Given the description of an element on the screen output the (x, y) to click on. 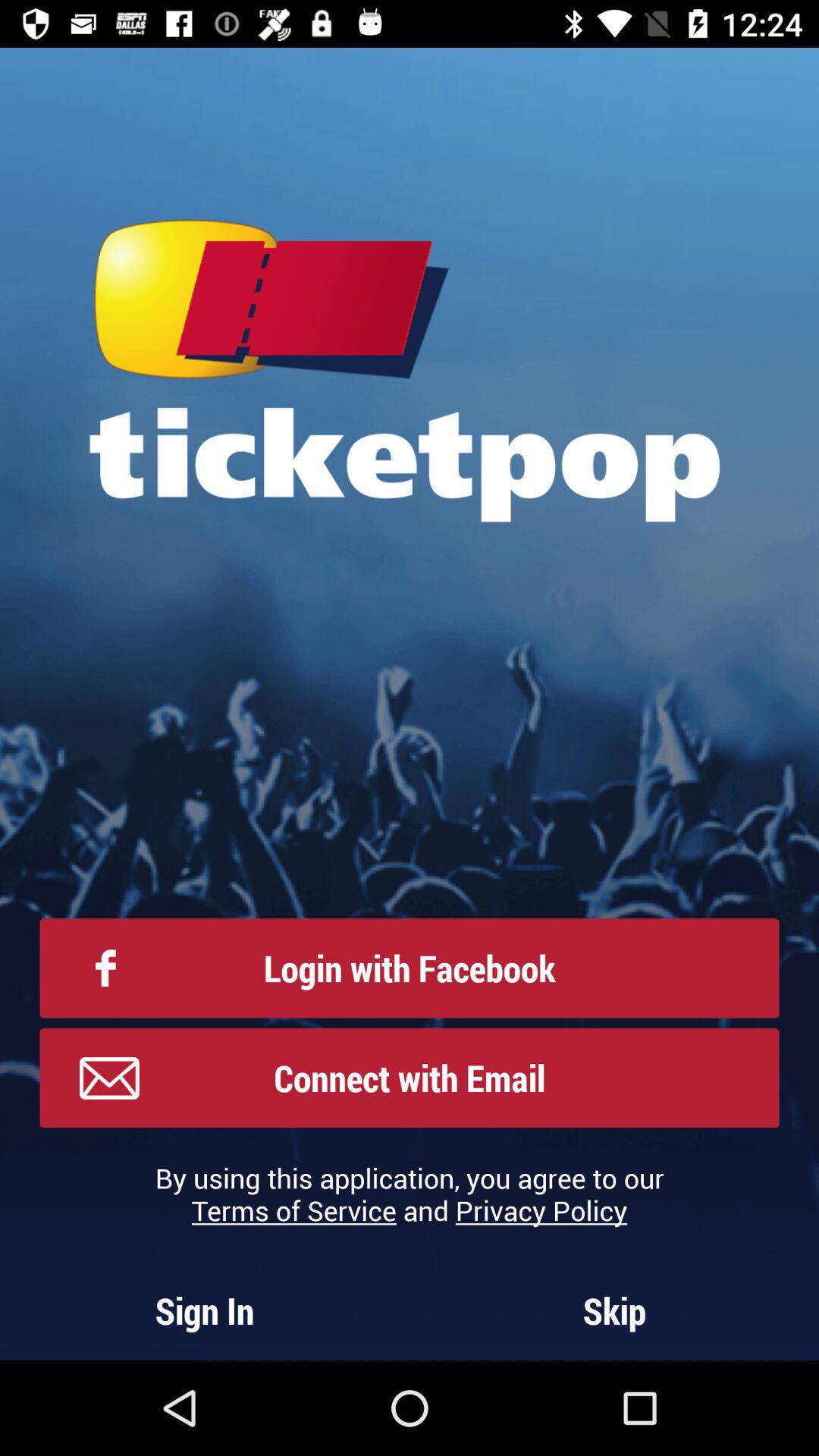
flip to the skip item (614, 1310)
